Given the description of an element on the screen output the (x, y) to click on. 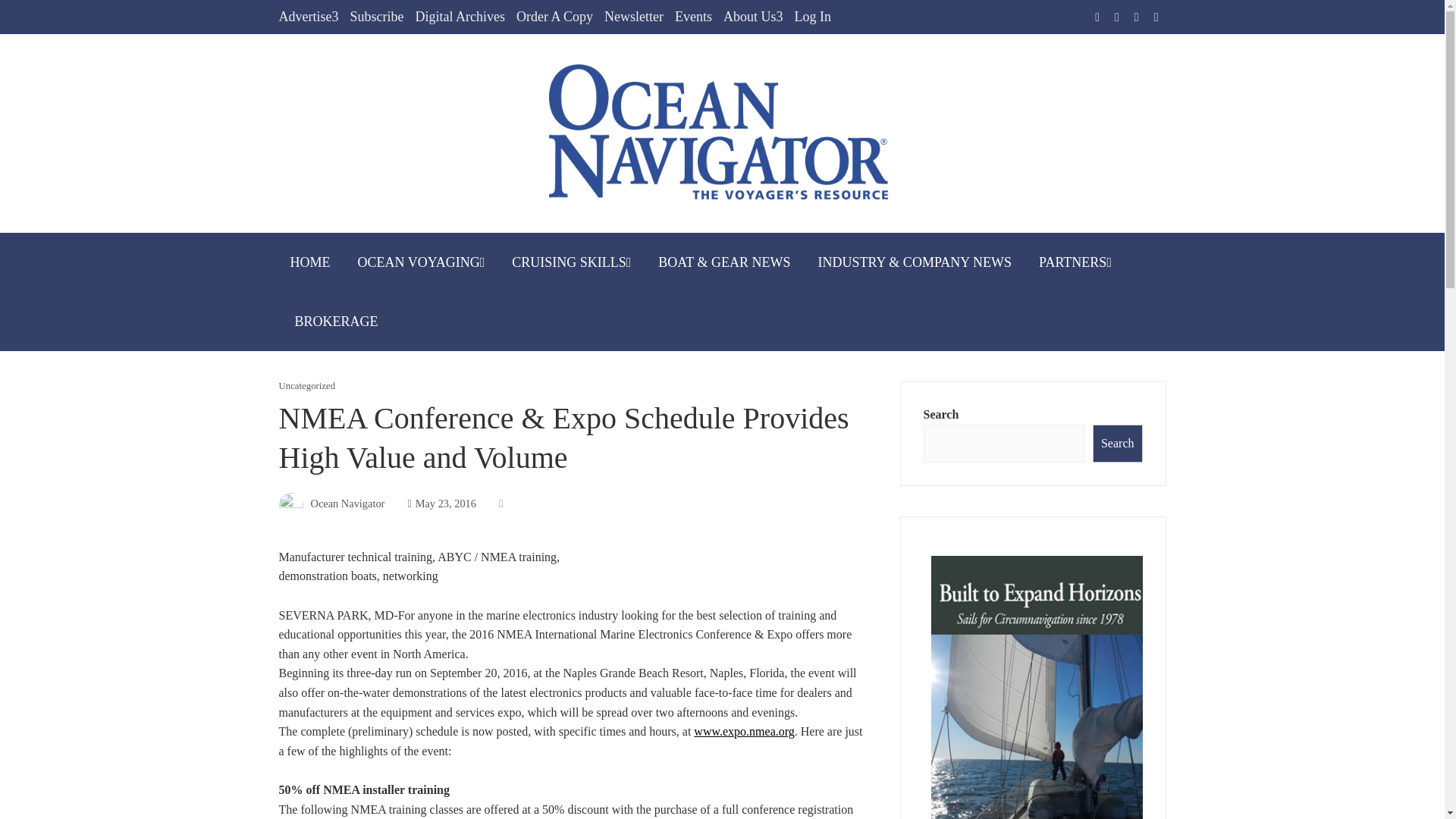
Order A Copy (554, 17)
HOME (310, 261)
CRUISING SKILLS (571, 261)
Subscribe (376, 17)
Newsletter (633, 17)
Events (693, 17)
Log In (812, 17)
PARTNERS (1074, 261)
OCEAN VOYAGING (421, 261)
About Us (753, 17)
Digital Archives (458, 17)
Advertise (309, 17)
